Given the description of an element on the screen output the (x, y) to click on. 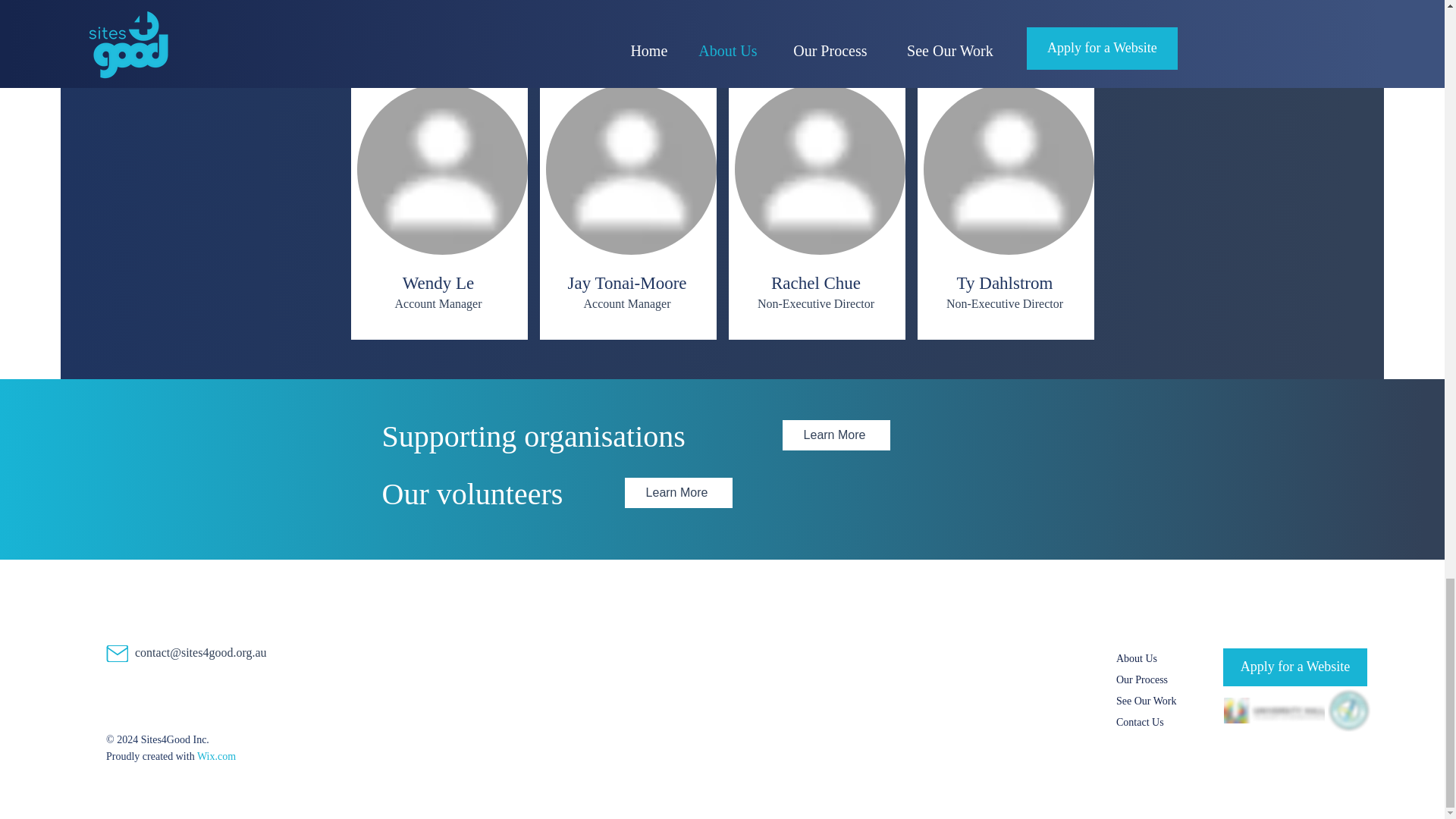
Wix.com (215, 756)
Our Process (1141, 679)
Learn More (836, 435)
Co-Executive Director (437, 19)
Ronan Cameron (438, 4)
Marketing Director (815, 19)
Dana Khalaf (627, 4)
Apply for a Website (1295, 667)
Amadea Yinata (815, 4)
Co-Executive Director (626, 19)
